Given the description of an element on the screen output the (x, y) to click on. 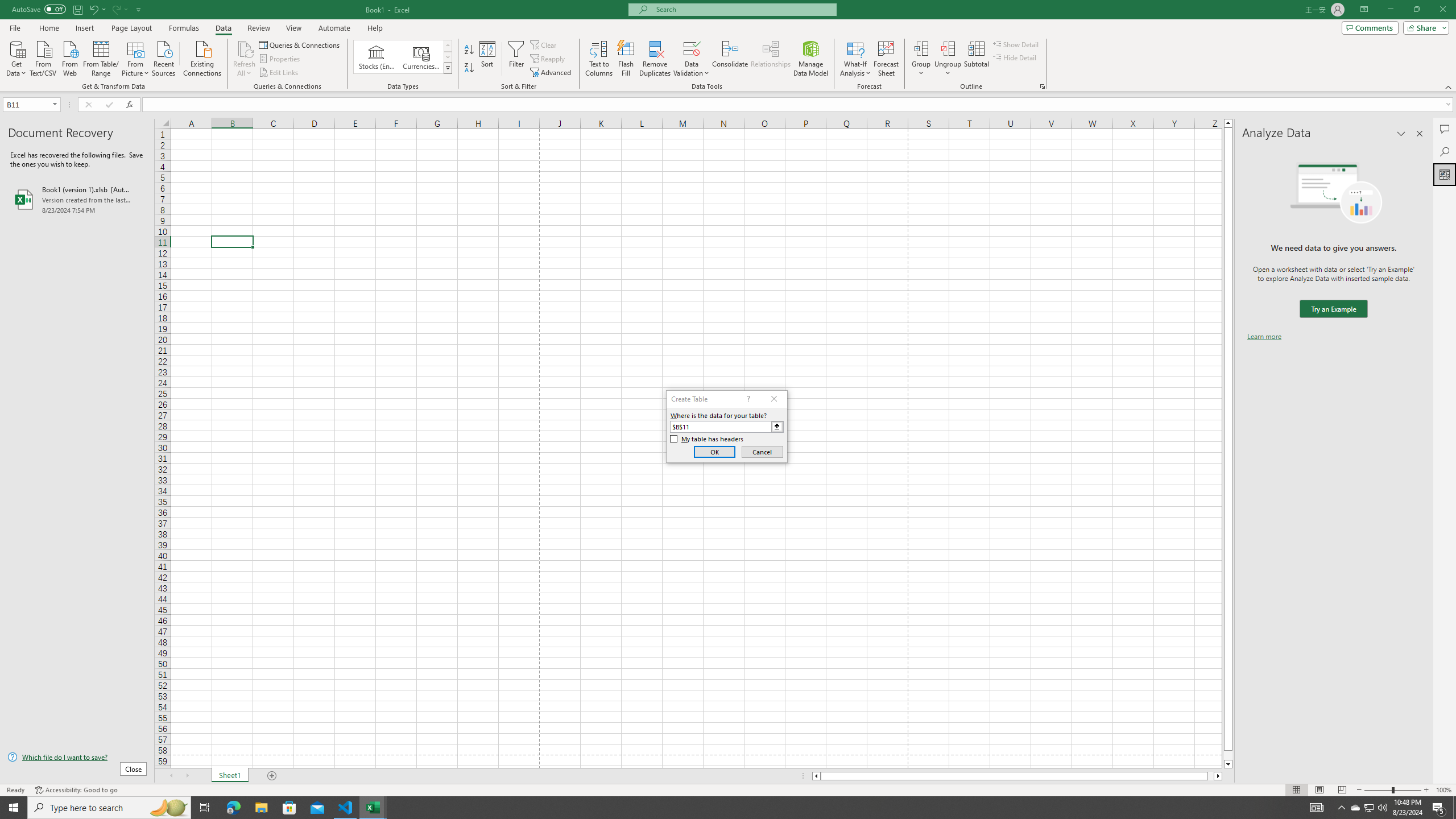
Close pane (1419, 133)
Data Validation... (691, 58)
Analyze Data (1444, 173)
Show Detail (1016, 44)
Refresh All (244, 48)
Advanced... (551, 72)
Sort A to Z (469, 49)
Row up (448, 45)
Task Pane Options (1400, 133)
Ungroup... (947, 48)
Formula Bar (799, 104)
